Given the description of an element on the screen output the (x, y) to click on. 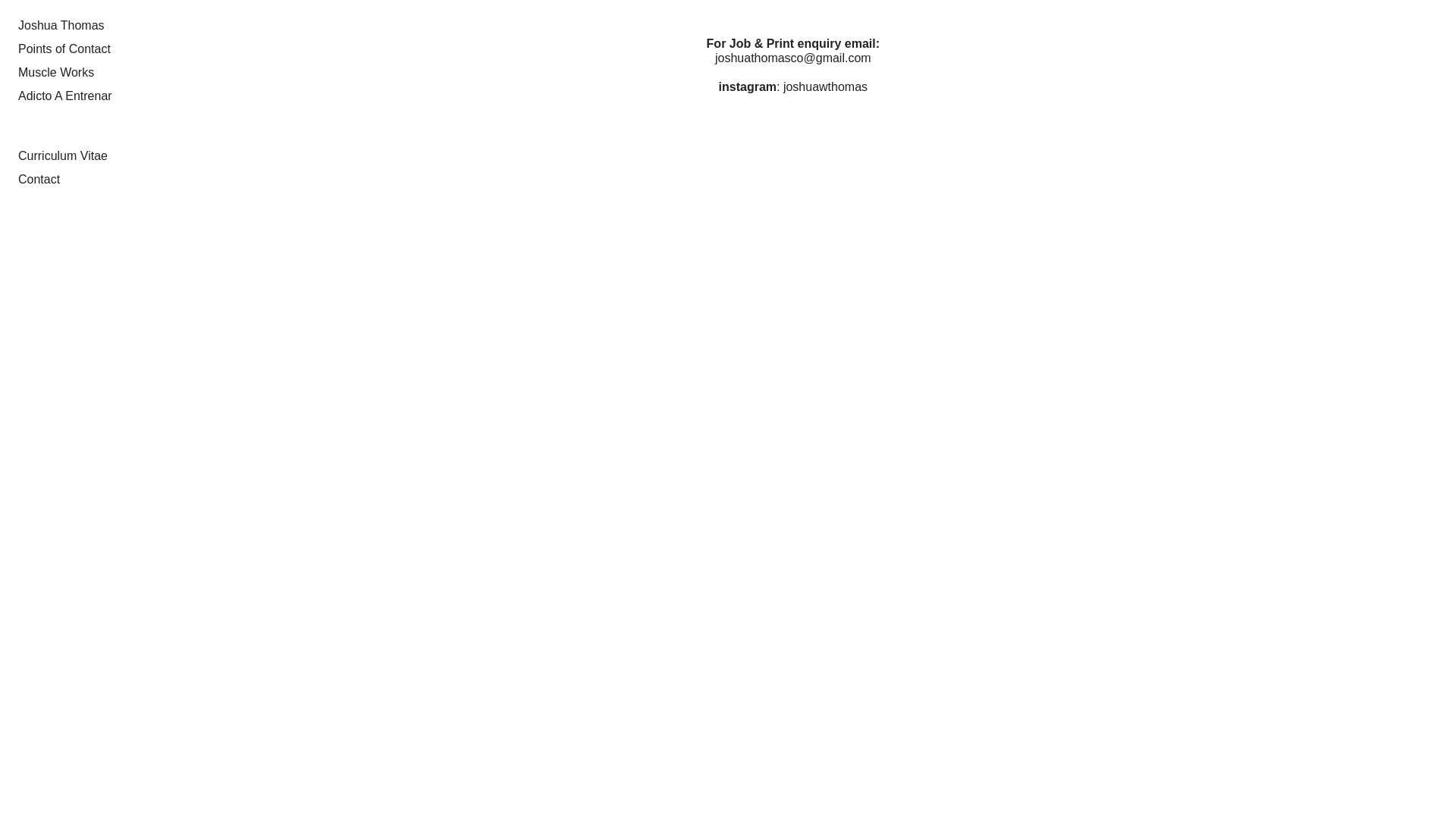
Contact Element type: text (38, 178)
Adicto A Entrenar Element type: text (65, 95)
Joshua Thomas Element type: text (61, 24)
Muscle Works Element type: text (56, 71)
Curriculum Vitae Element type: text (62, 155)
Points of Contact Element type: text (64, 48)
